Given the description of an element on the screen output the (x, y) to click on. 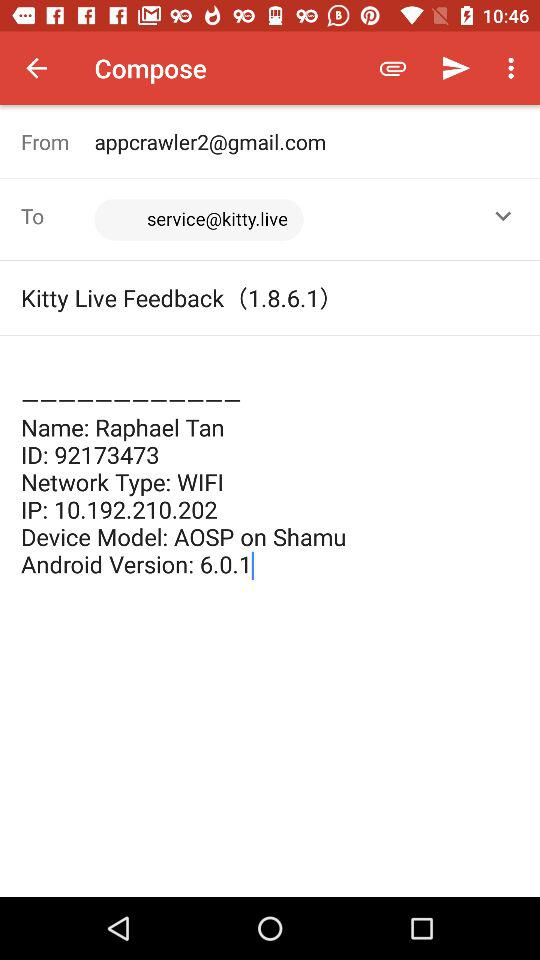
flip until the from icon (57, 141)
